Given the description of an element on the screen output the (x, y) to click on. 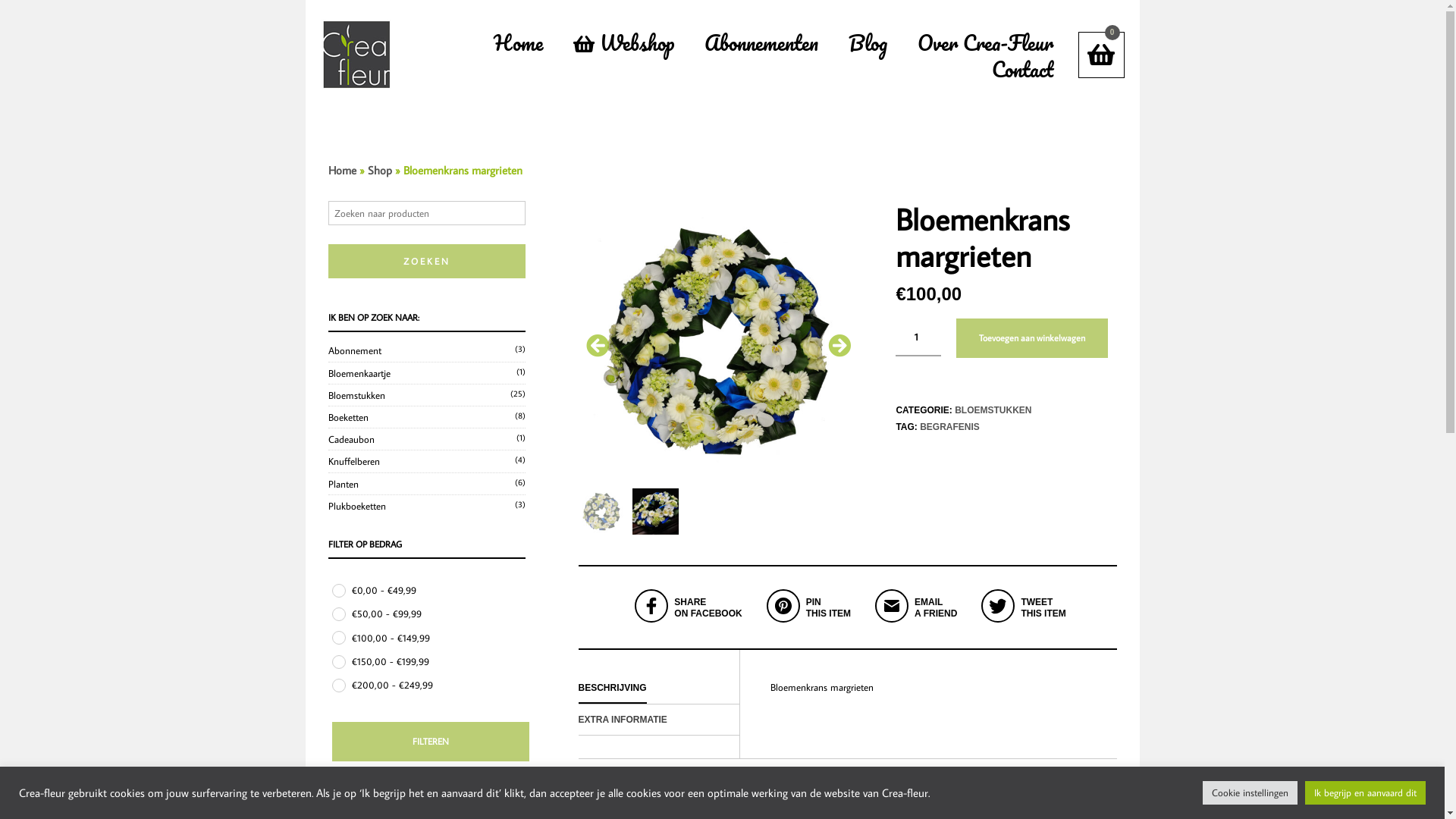
Cookie instellingen Element type: text (1249, 792)
Zoeken Element type: text (425, 261)
Afscheidsbloemen bloemstuk witte blauwe kleuren Element type: hover (717, 340)
SHARE
ON FACEBOOK Element type: text (684, 619)
Boeketten Element type: text (347, 417)
PIN
THIS ITEM Element type: text (805, 619)
Bloemenkaartje Element type: text (358, 373)
Ik begrijp en aanvaard dit Element type: text (1365, 792)
Home Element type: text (517, 42)
Shop Element type: text (379, 170)
Plukboeketten Element type: text (356, 505)
BEGRAFENIS Element type: text (949, 426)
FILTEREN Element type: text (430, 741)
Abonnement Element type: text (353, 350)
Over Crea-Fleur Element type: text (984, 42)
BESCHRIJVING Element type: text (611, 687)
Abonnementen Element type: text (760, 42)
Toevoegen aan winkelwagen Element type: text (1031, 337)
Webshop Element type: text (623, 42)
Knuffelberen Element type: text (353, 461)
TWEET
THIS ITEM Element type: text (1020, 619)
Blog Element type: text (867, 42)
Cadeaubon Element type: text (350, 439)
BLOEMSTUKKEN Element type: text (992, 409)
EXTRA INFORMATIE Element type: text (621, 718)
Contact Element type: text (1022, 69)
Bloemstukken Element type: text (355, 395)
Home Element type: text (341, 170)
0 Element type: text (1101, 54)
Planten Element type: text (342, 483)
EMAIL
A FRIEND Element type: text (913, 619)
